Given the description of an element on the screen output the (x, y) to click on. 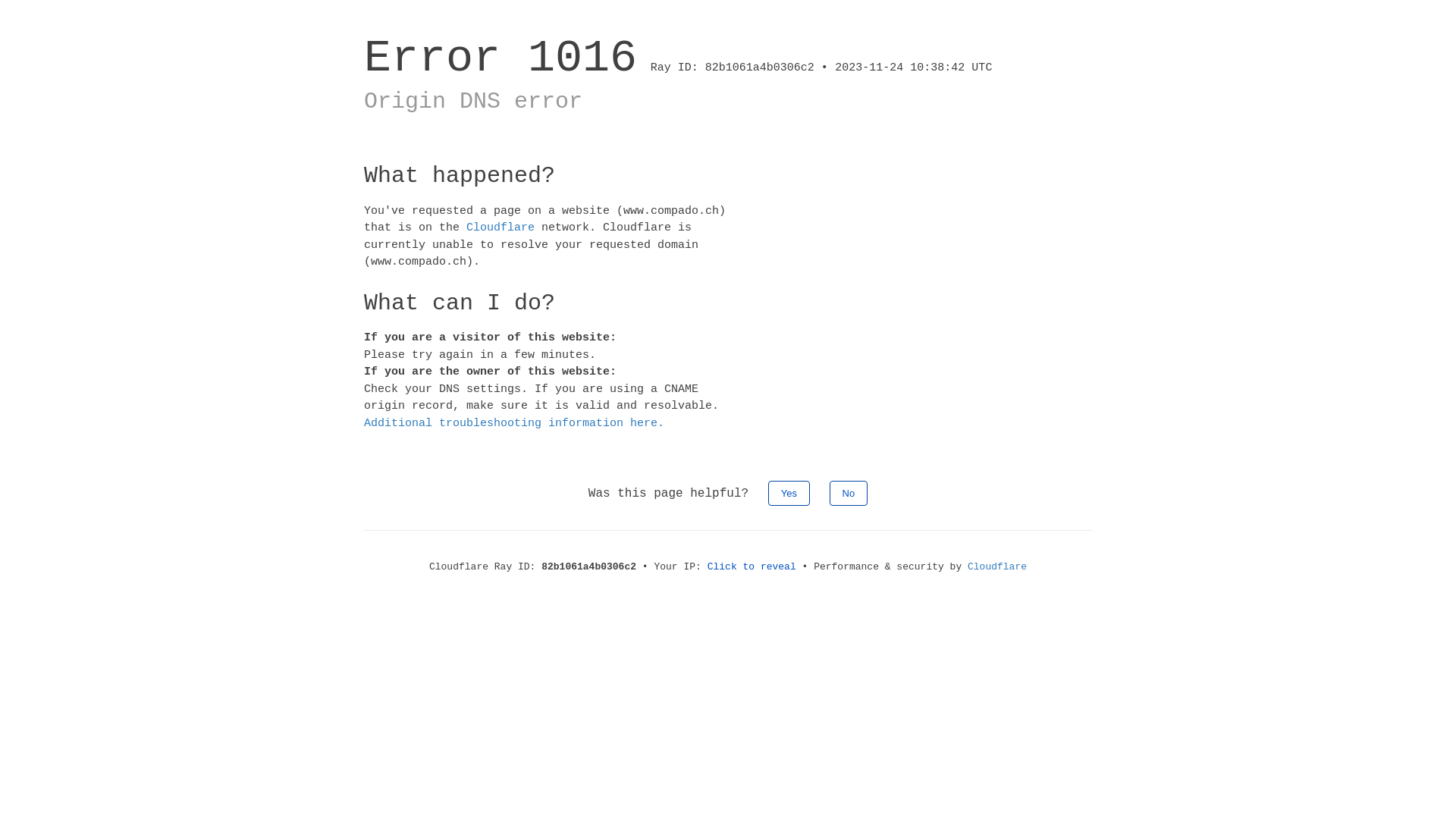
Yes Element type: text (788, 492)
Cloudflare Element type: text (996, 566)
Cloudflare Element type: text (500, 227)
Additional troubleshooting information here. Element type: text (514, 423)
Click to reveal Element type: text (751, 566)
No Element type: text (848, 492)
